Given the description of an element on the screen output the (x, y) to click on. 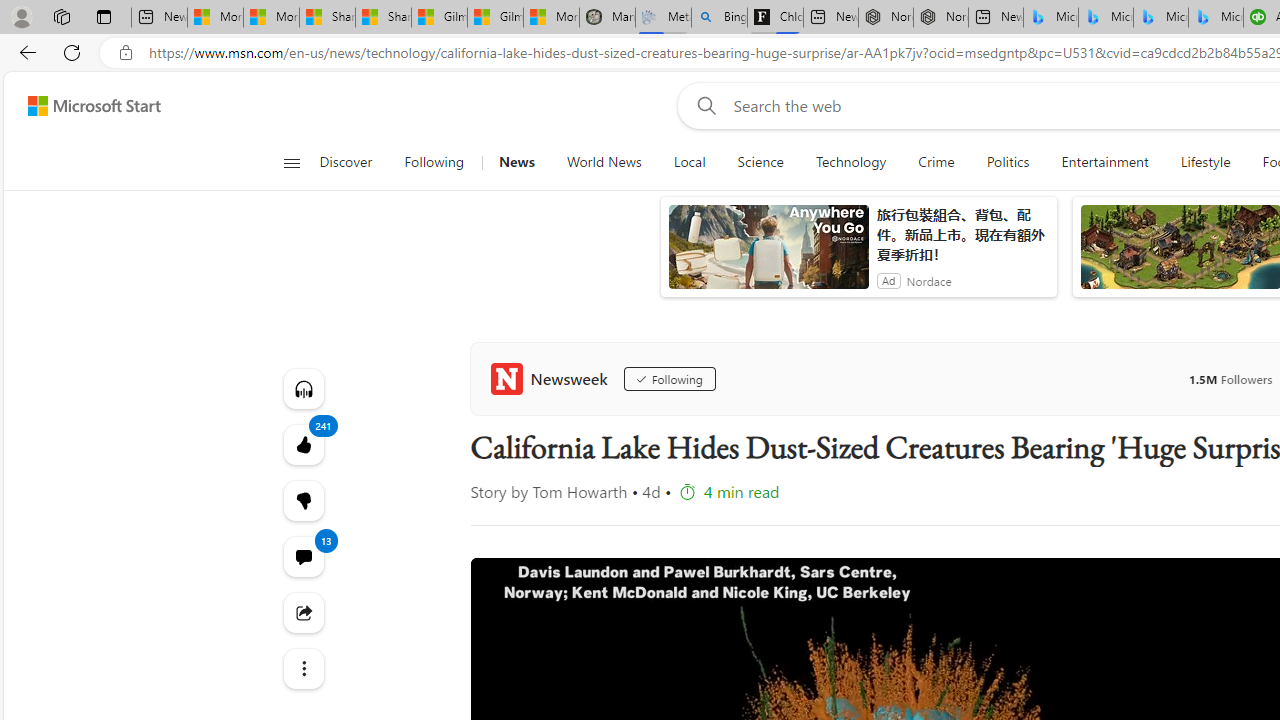
Skip to content (86, 105)
Listen to this article (302, 388)
Crime (936, 162)
See more (302, 668)
Local (689, 162)
Personal Profile (21, 16)
Discover (345, 162)
Tab actions menu (104, 16)
Nordace (929, 280)
More like this241Fewer like thisView comments (302, 500)
Dislike (302, 500)
Technology (851, 162)
View comments 13 Comment (302, 556)
